Given the description of an element on the screen output the (x, y) to click on. 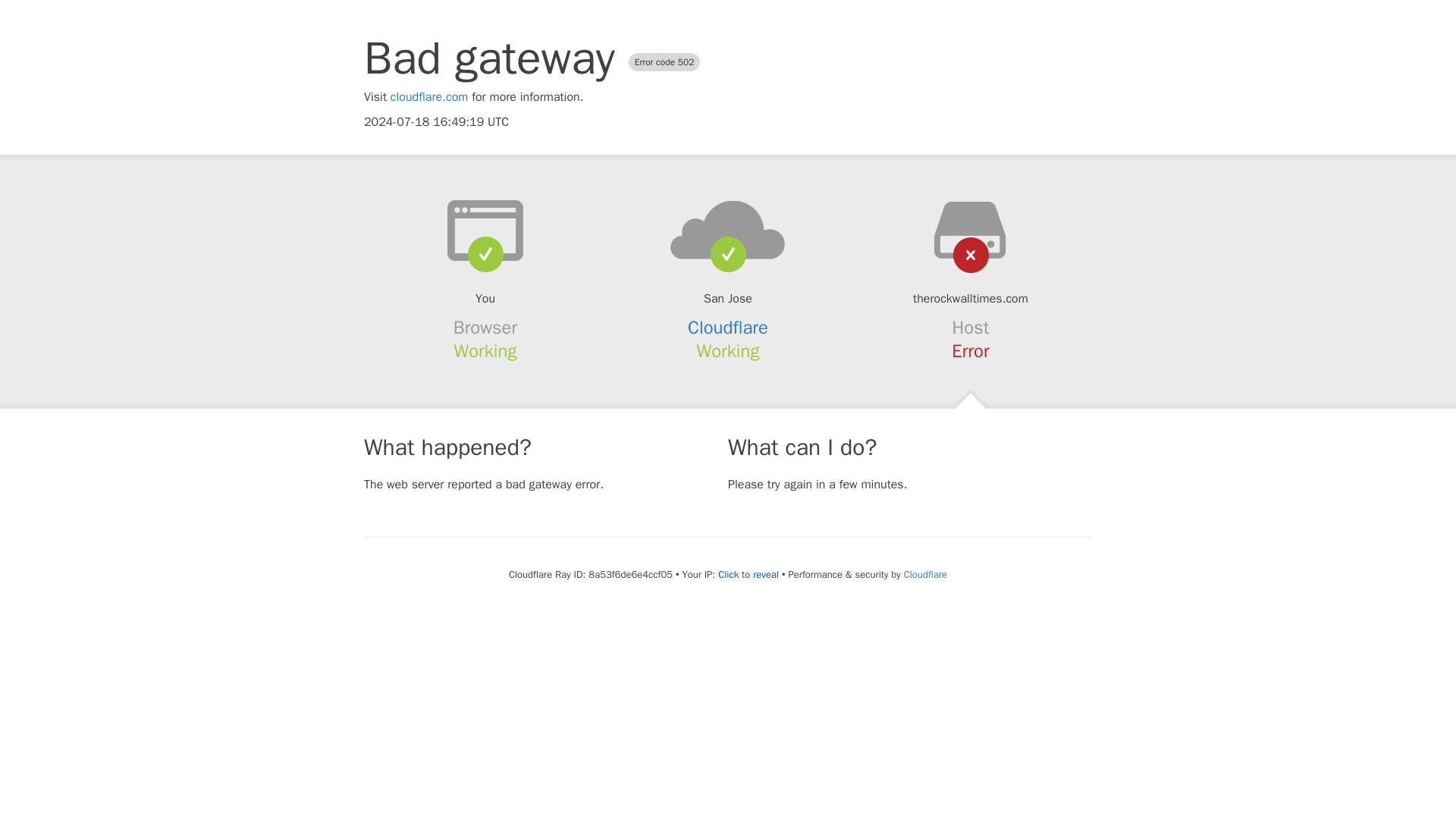
Cloudflare (925, 574)
Cloudflare (727, 327)
cloudflare.com (429, 96)
Click to reveal (747, 574)
